Given the description of an element on the screen output the (x, y) to click on. 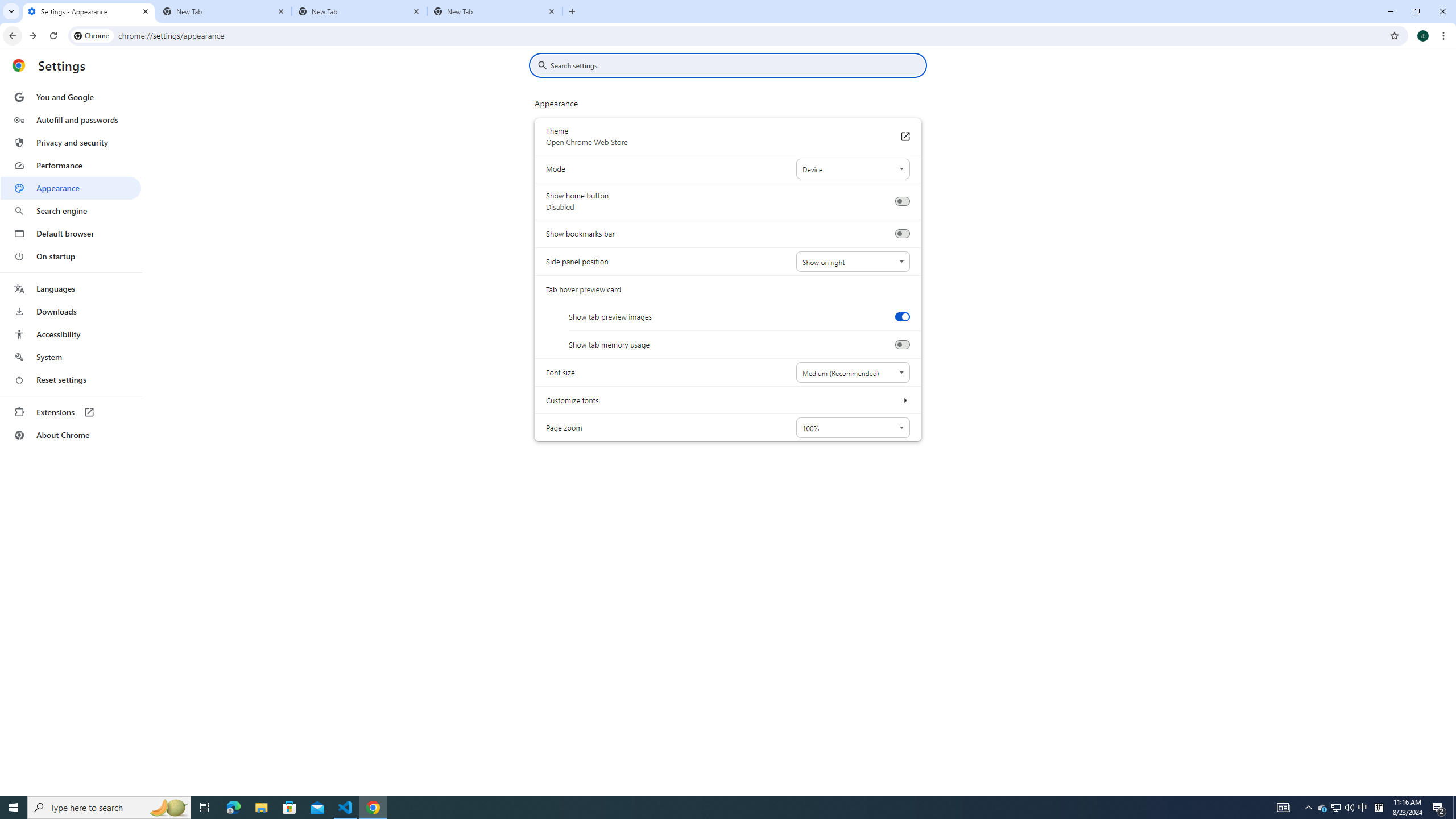
New Tab (224, 11)
Downloads (70, 311)
Customize fonts (904, 399)
About Chrome (70, 434)
Performance (70, 164)
Accessibility (70, 333)
Mode (852, 168)
Font size (852, 372)
Search settings (735, 65)
